Given the description of an element on the screen output the (x, y) to click on. 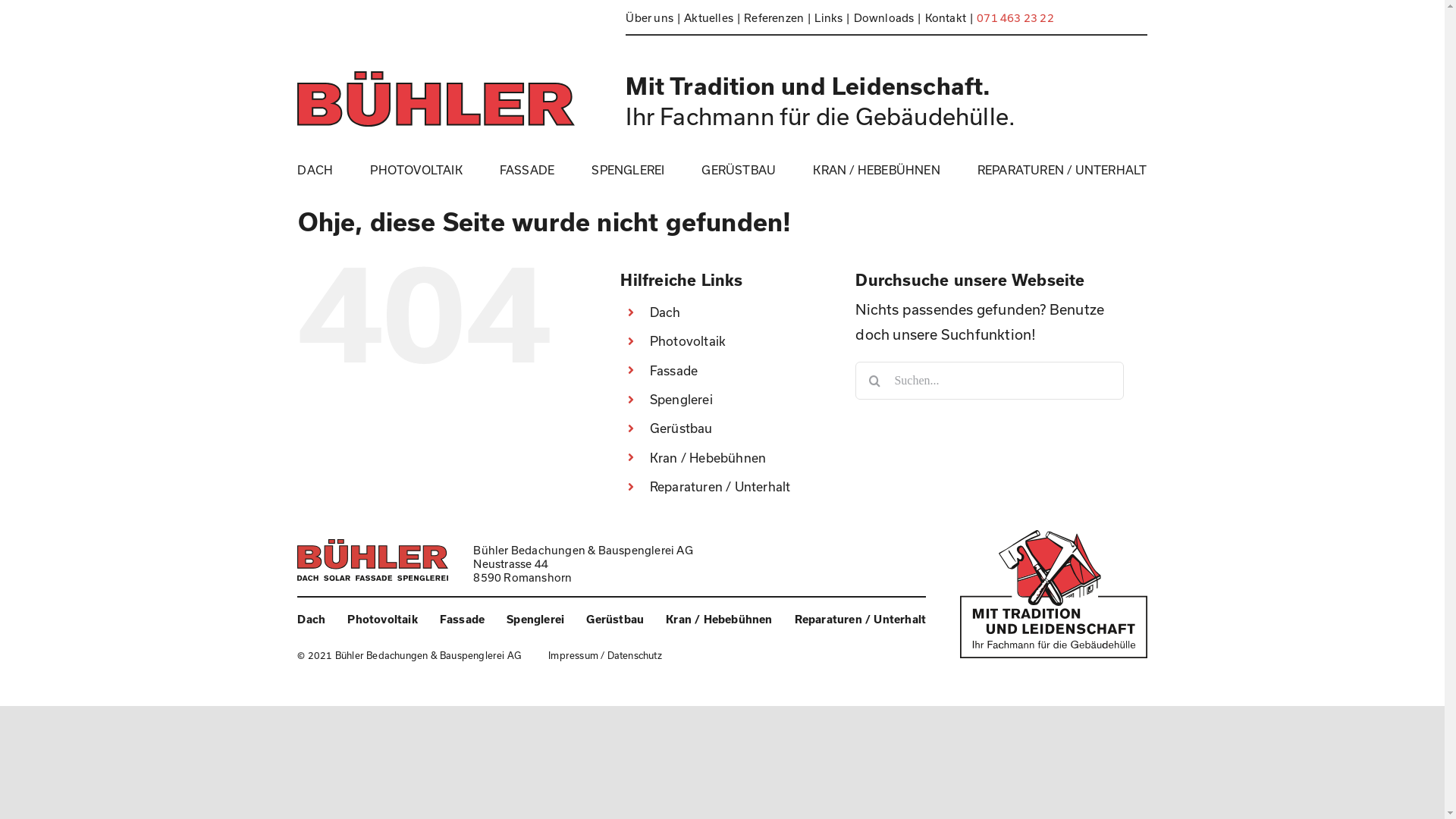
Spenglerei Element type: text (680, 399)
Impressum Element type: text (573, 654)
Reparaturen / Unterhalt Element type: text (719, 486)
Fassade Element type: text (461, 618)
Kontakt Element type: text (951, 17)
Photovoltaik Element type: text (687, 340)
Referenzen Element type: text (778, 17)
Photovoltaik Element type: text (382, 618)
PHOTOVOLTAIK Element type: text (415, 168)
Dach Element type: text (311, 618)
label Element type: hover (1053, 594)
SPENGLEREI Element type: text (627, 168)
DACH Element type: text (314, 168)
logo_buehler Element type: hover (372, 559)
Spenglerei Element type: text (535, 618)
Dach Element type: text (664, 311)
Links Element type: text (833, 17)
071 463 23 22 Element type: text (1016, 17)
Reparaturen / Unterhalt Element type: text (860, 618)
Aktuelles Element type: text (713, 17)
Downloads Element type: text (889, 17)
FASSADE Element type: text (526, 168)
REPARATUREN / UNTERHALT Element type: text (1062, 168)
Datenschutz Element type: text (634, 654)
Fassade Element type: text (673, 370)
